Given the description of an element on the screen output the (x, y) to click on. 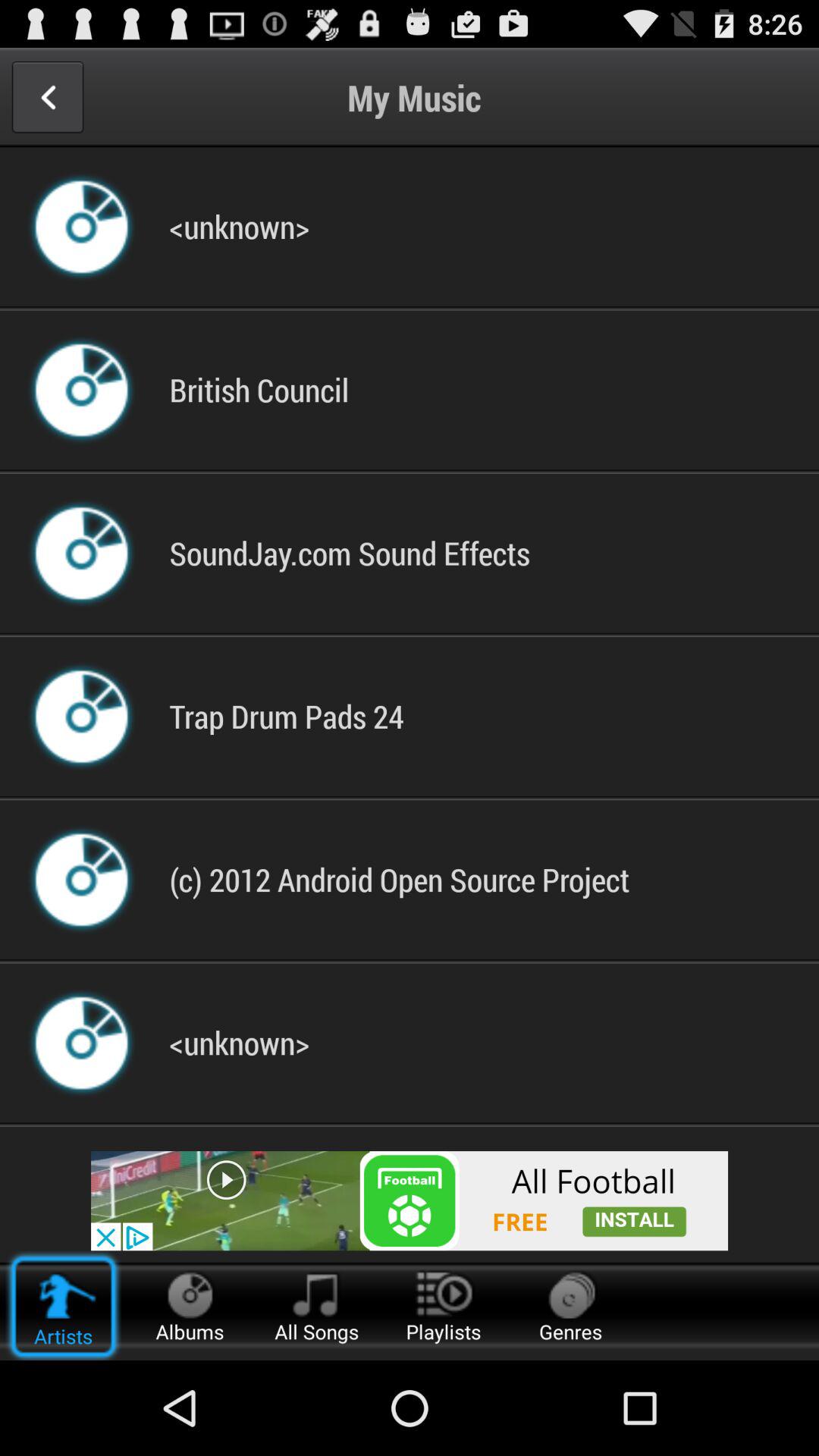
go to previous (47, 97)
